Given the description of an element on the screen output the (x, y) to click on. 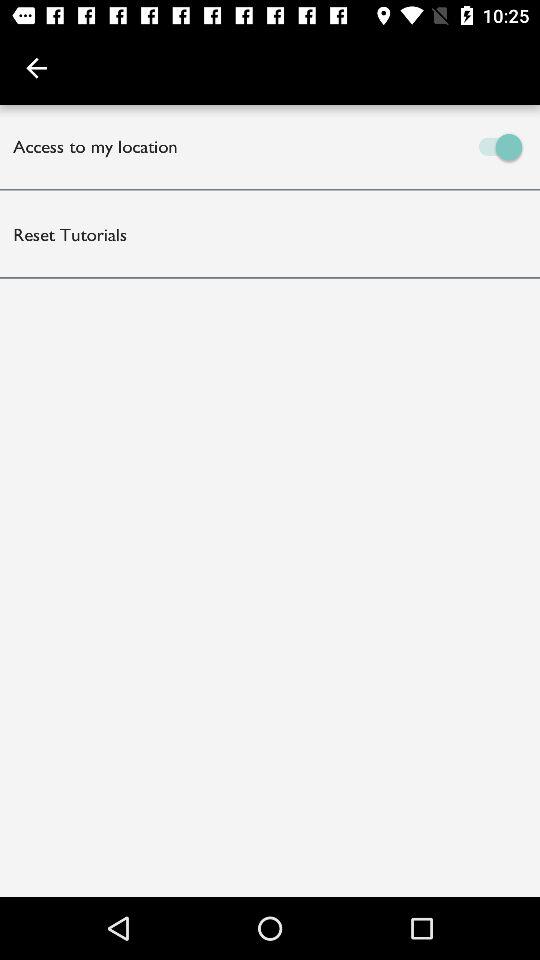
toggle location access (405, 146)
